Given the description of an element on the screen output the (x, y) to click on. 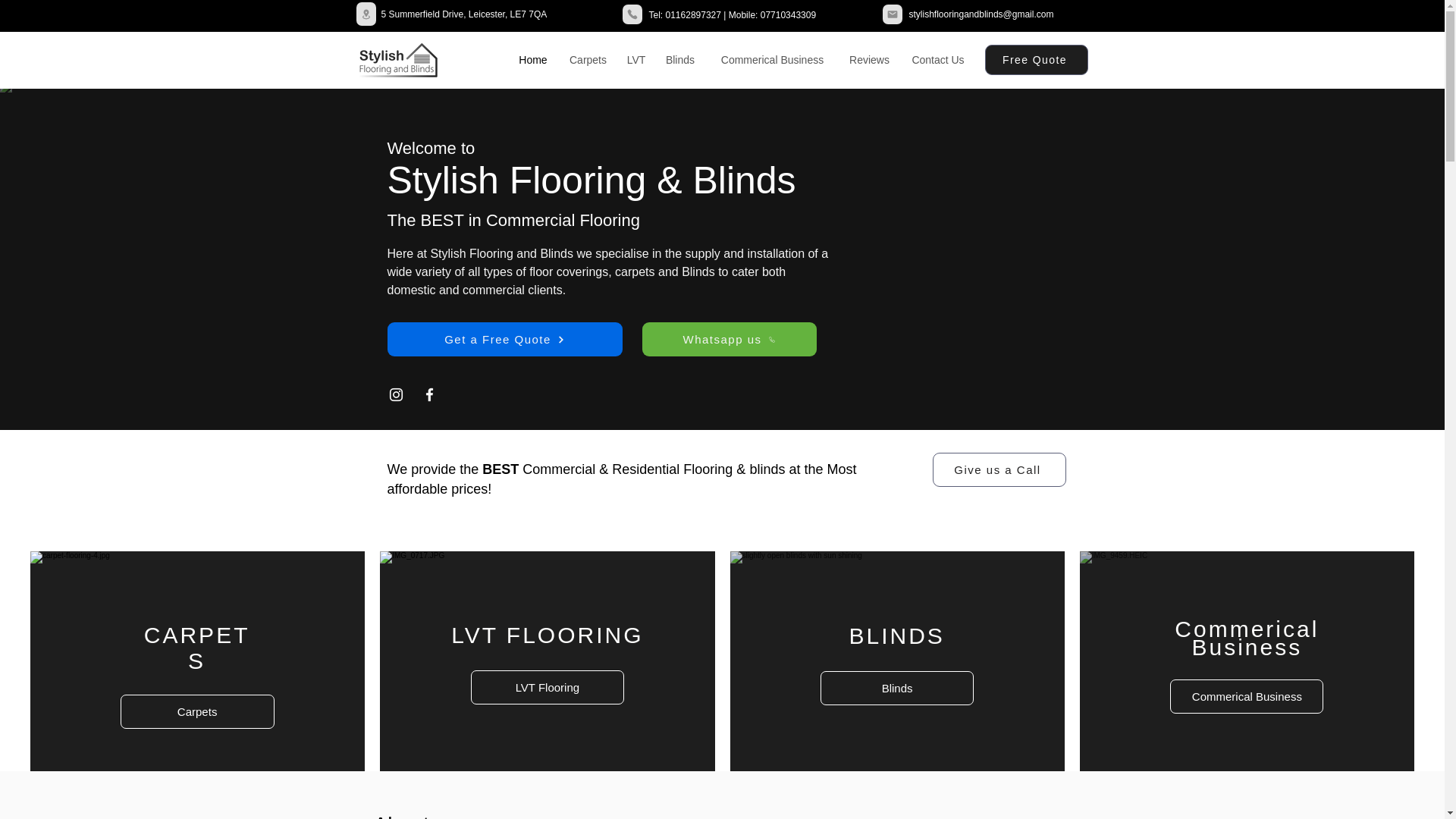
LVT Flooring (547, 687)
Commerical Business (771, 60)
Reviews (868, 60)
Contact Us (937, 60)
Give us a Call (999, 469)
Commerical Business (1246, 696)
Home (533, 60)
Carpets (587, 60)
Commerical (1246, 628)
LVT (635, 60)
Carpets (197, 711)
Whatsapp us (728, 339)
CARPETS (197, 647)
Free Quote (1035, 60)
Get a Free Quote (504, 339)
